Given the description of an element on the screen output the (x, y) to click on. 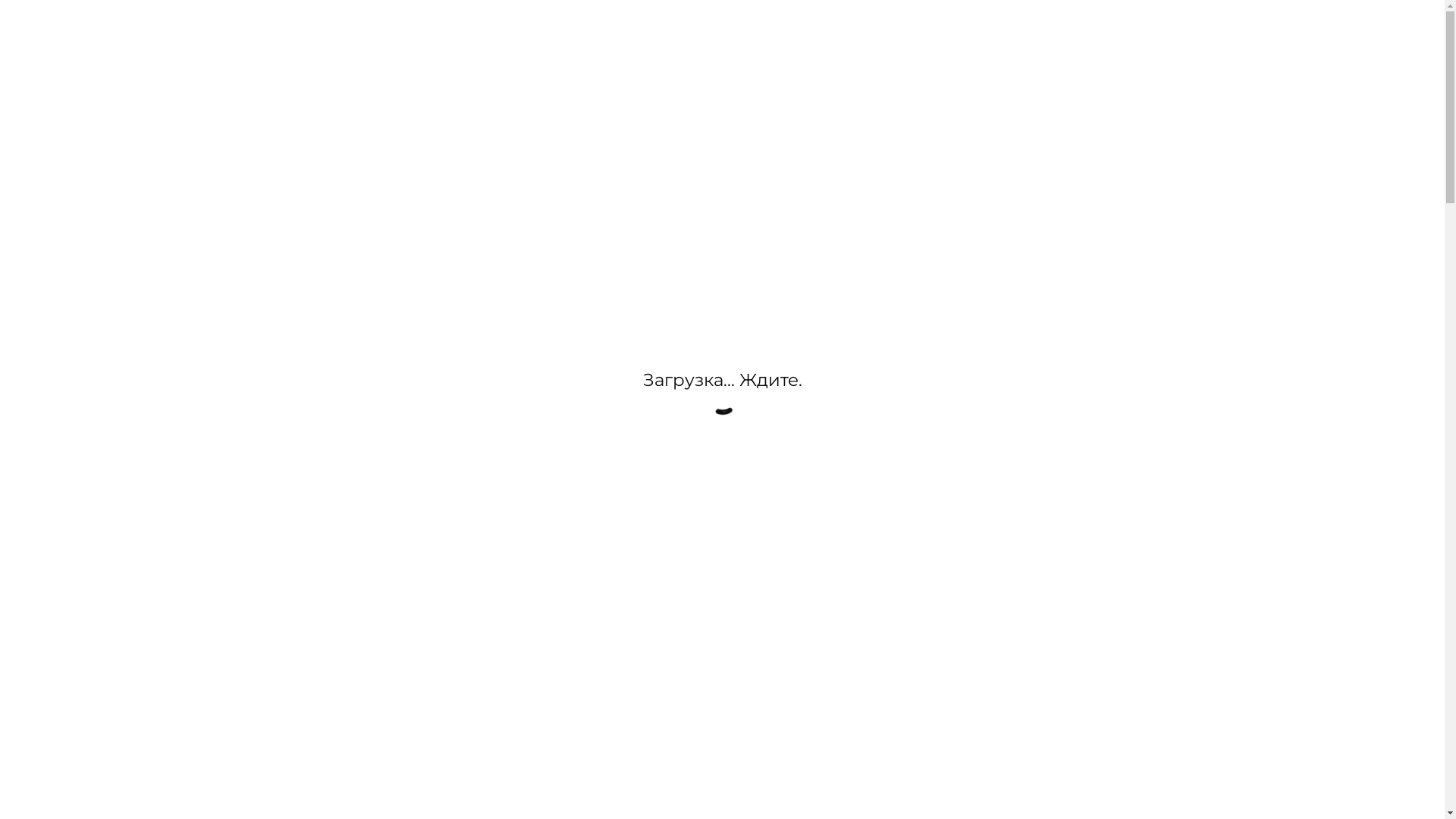
IGOFREE Element type: text (768, 22)
